Given the description of an element on the screen output the (x, y) to click on. 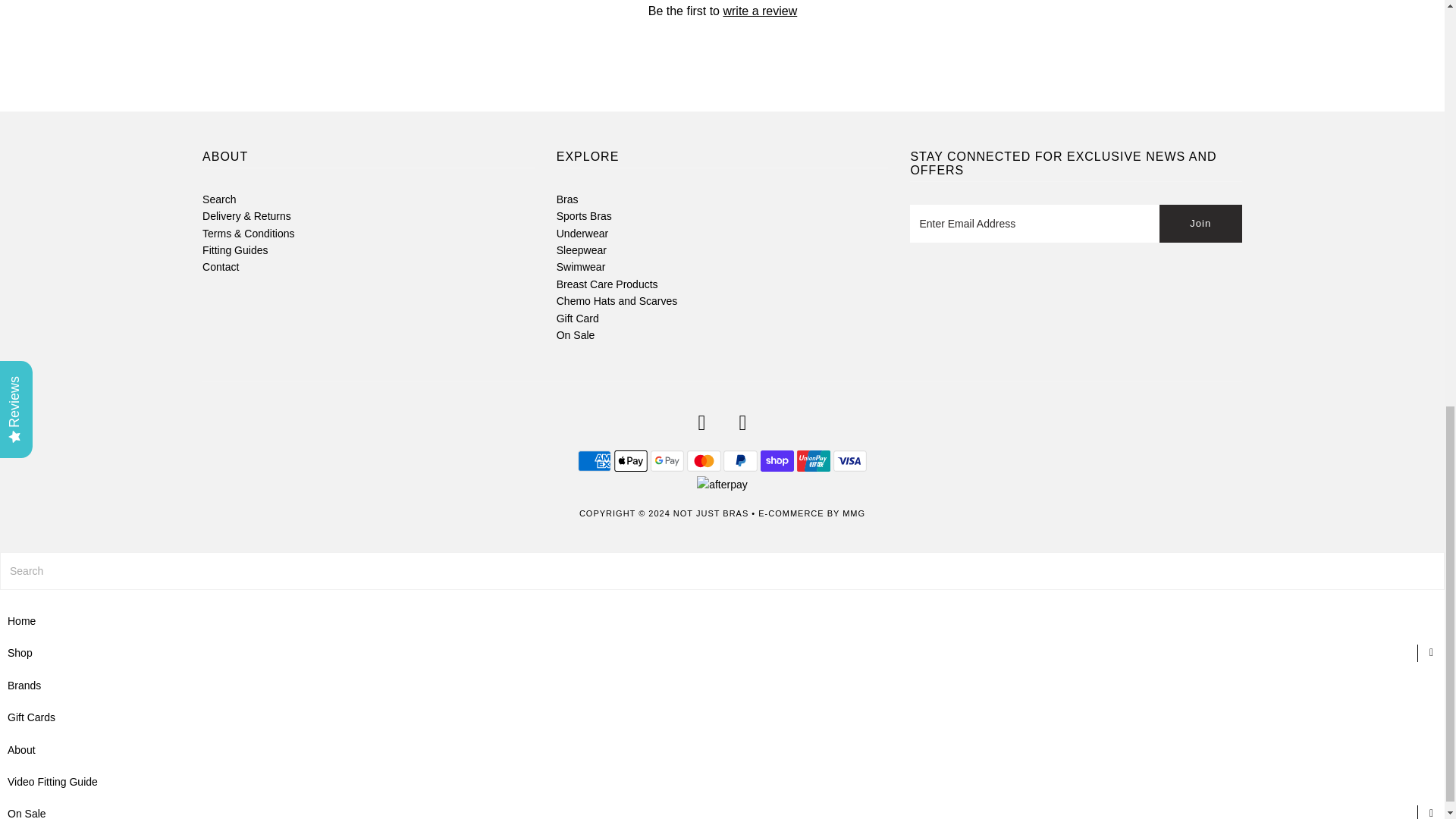
Join (1199, 223)
Product reviews widget (721, 36)
